Given the description of an element on the screen output the (x, y) to click on. 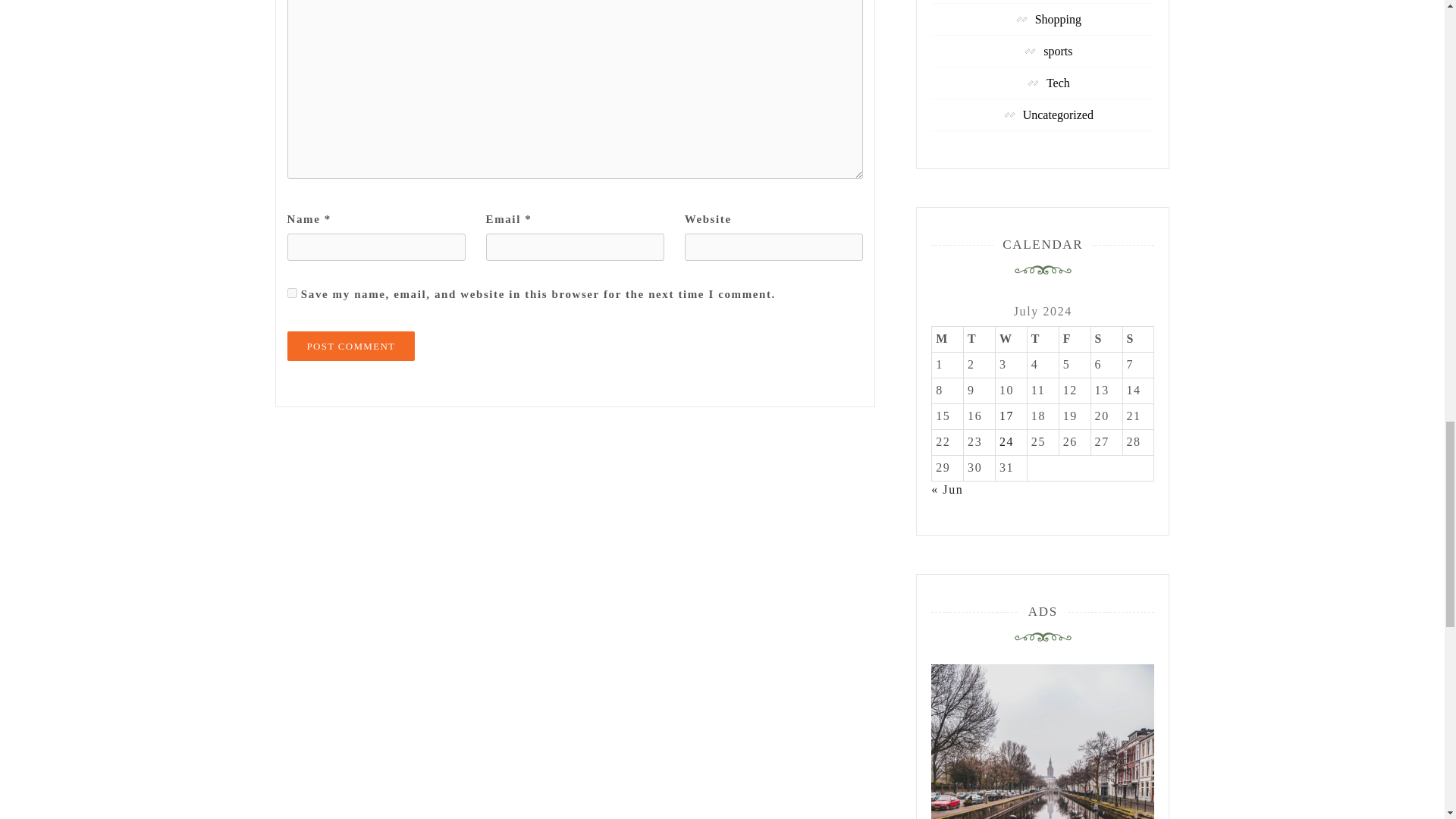
yes (291, 293)
Saturday (1106, 339)
Post Comment (350, 346)
Thursday (1042, 339)
Sunday (1138, 339)
Tuesday (979, 339)
Post Comment (350, 346)
Friday (1074, 339)
Wednesday (1010, 339)
Monday (947, 339)
